Given the description of an element on the screen output the (x, y) to click on. 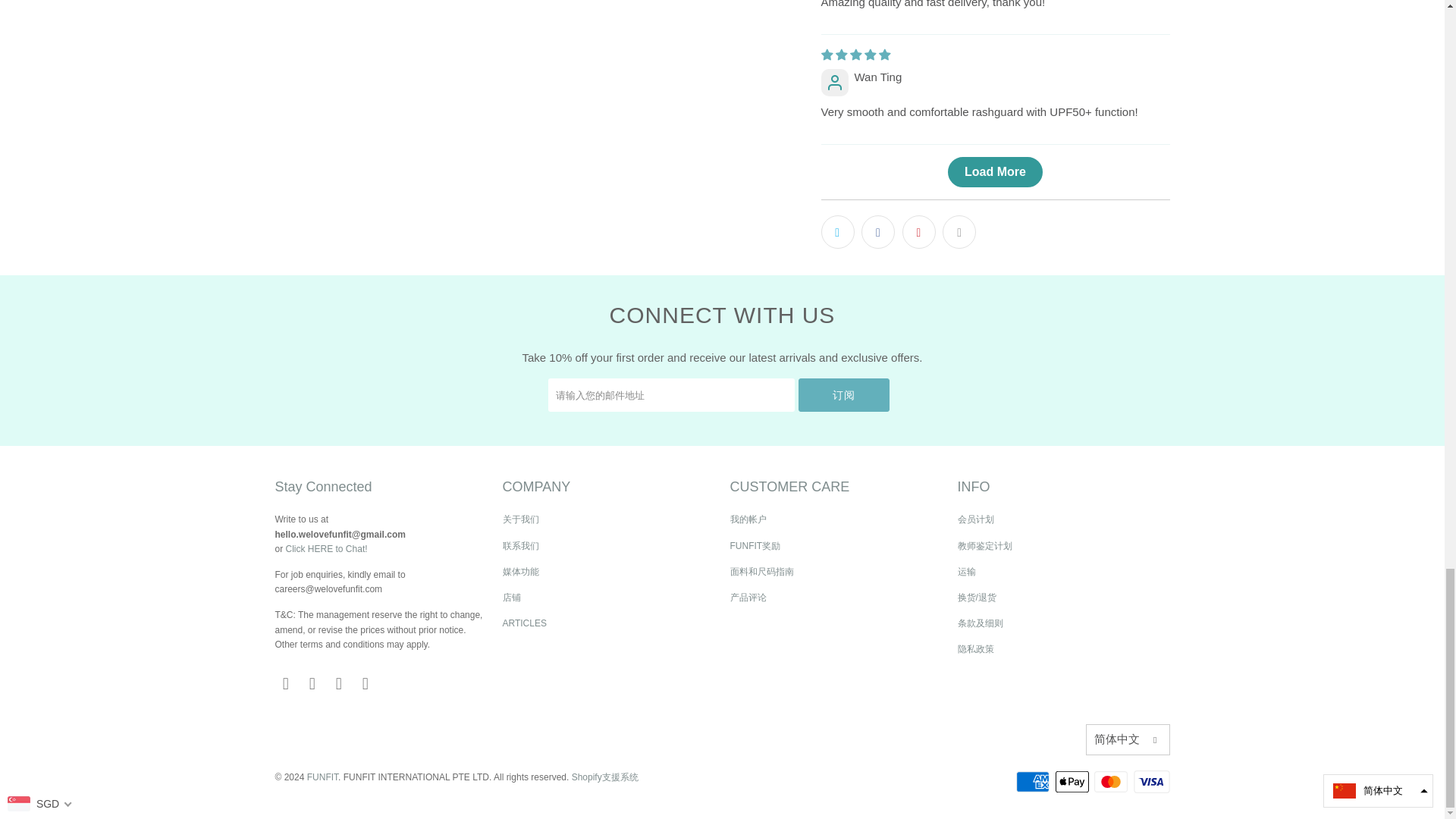
FUNFIT on Facebook (286, 683)
Mastercard (1112, 781)
American Express (1034, 781)
Apple Pay (1073, 781)
Visa (1150, 781)
FUNFIT on YouTube (312, 683)
